Given the description of an element on the screen output the (x, y) to click on. 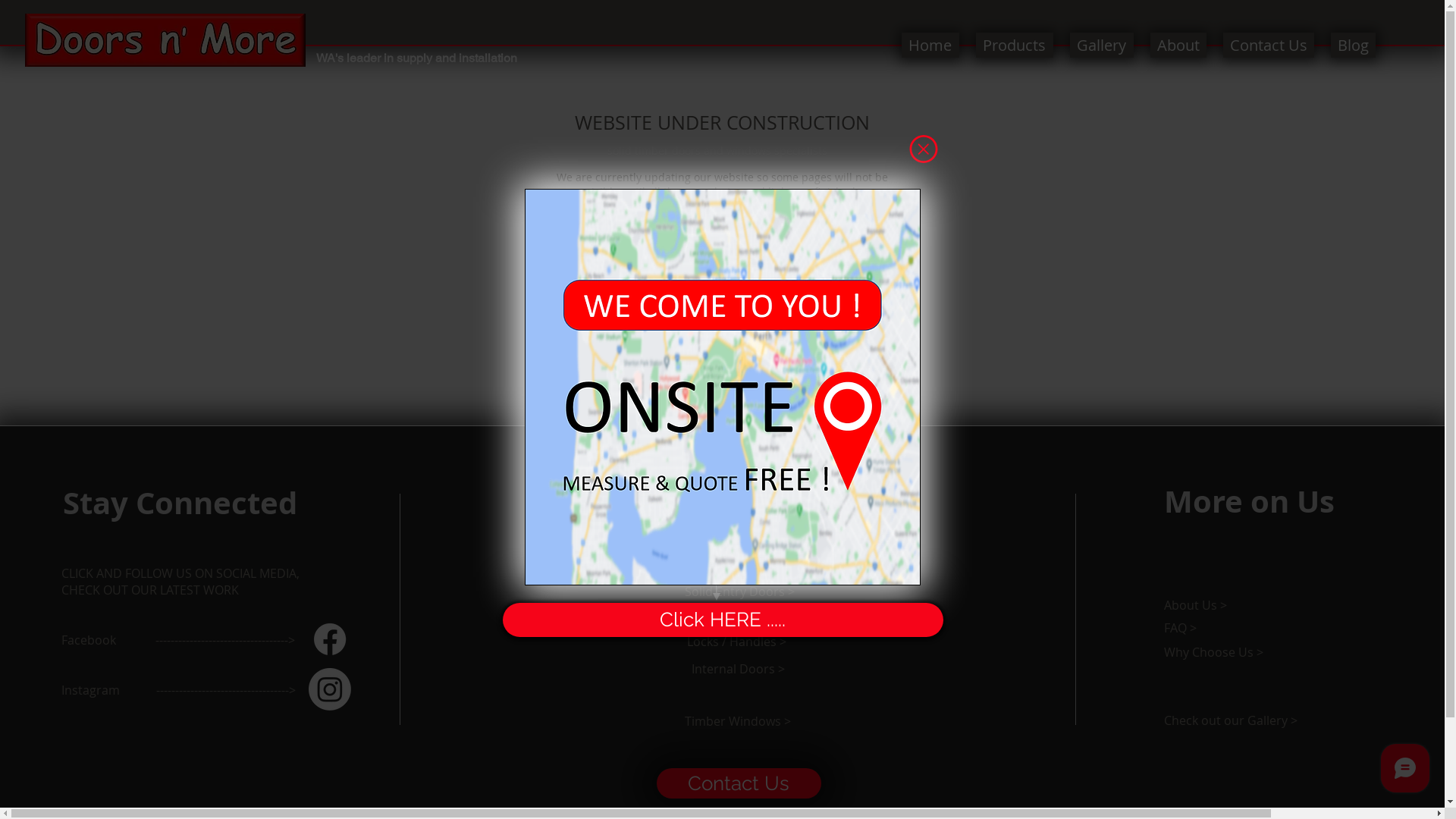
Timber Windows > Element type: text (737, 721)
Bifold Doors > Element type: text (736, 567)
Wix Chat Element type: hover (1408, 771)
Glass Entry Doors > Element type: text (738, 617)
Solid Entry Doors > Element type: text (738, 591)
Contact Us Element type: text (738, 783)
Back to site Element type: hover (922, 148)
Click HERE ..... Element type: text (722, 619)
Internal Doors > Element type: text (737, 668)
Wood french doors Element type: hover (164, 39)
Contact Us Element type: text (1267, 44)
Multicolored Framed Shades Element type: hover (729, 390)
Blog Element type: text (1352, 44)
Why Choose Us > Element type: text (1254, 652)
Alfresco Enclosures > Element type: text (738, 544)
Gallery Element type: text (1100, 44)
FAQ > Element type: text (1235, 627)
About Us > Element type: text (1254, 604)
Contact Us Element type: text (716, 335)
Home Element type: text (929, 44)
Check out our Gallery > Element type: text (1254, 720)
Locks / Handles > Element type: text (737, 641)
